Given the description of an element on the screen output the (x, y) to click on. 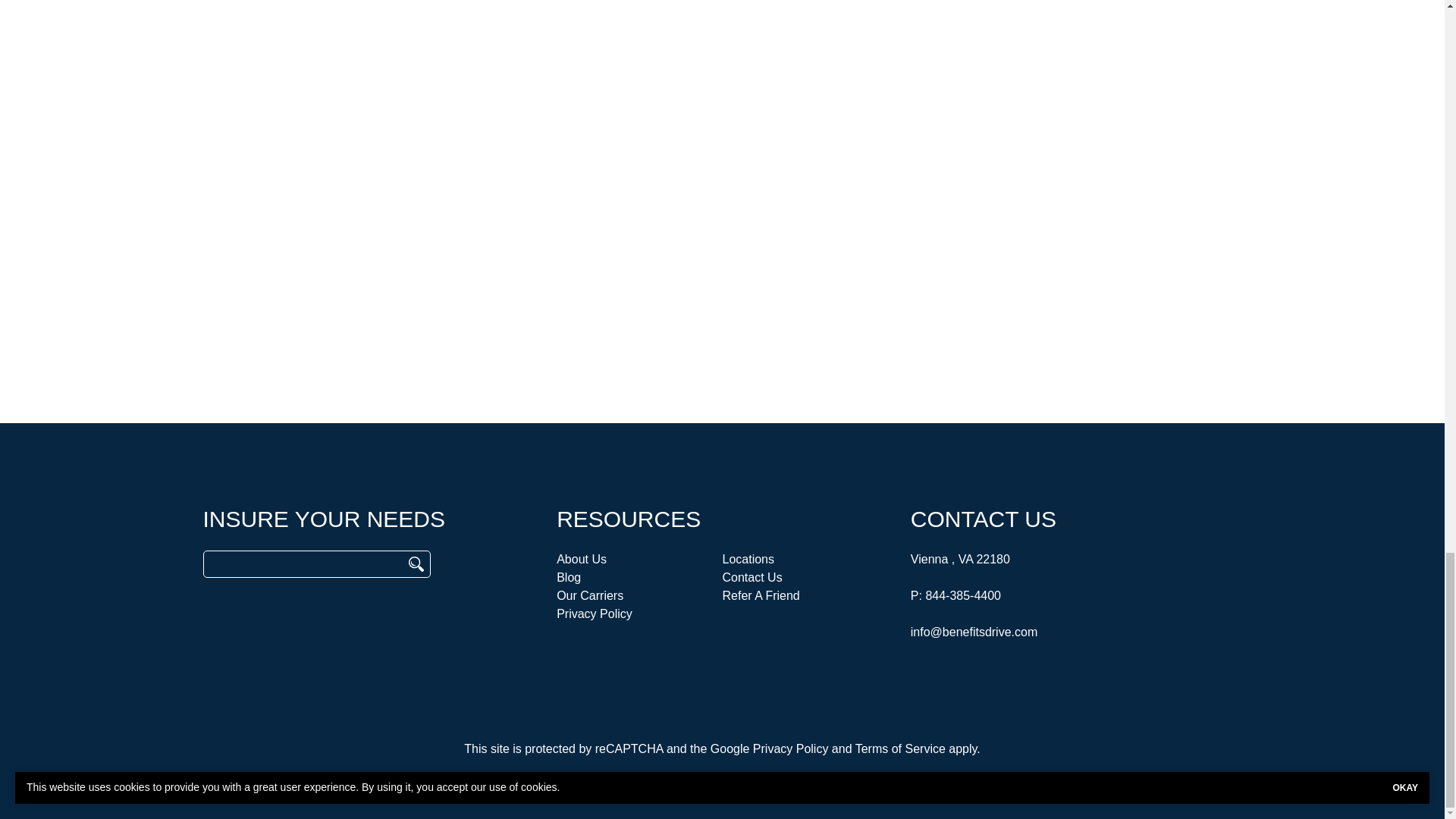
Search (416, 564)
Insurance Website Builder (831, 779)
Submit (946, 201)
Search (416, 564)
